Given the description of an element on the screen output the (x, y) to click on. 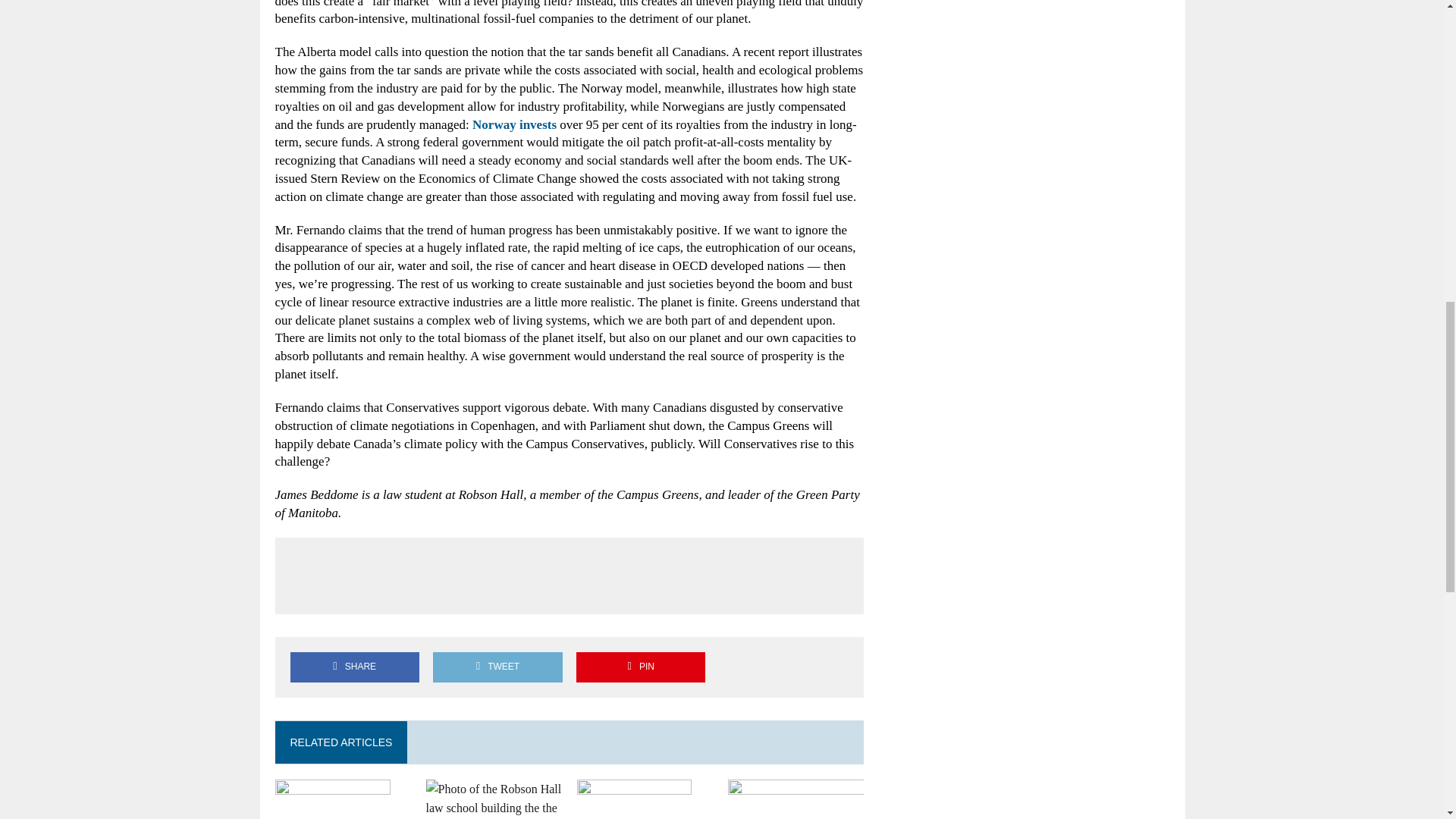
Tweet This Post (497, 666)
Pin This Post (640, 666)
Share on Facebook (354, 666)
